Given the description of an element on the screen output the (x, y) to click on. 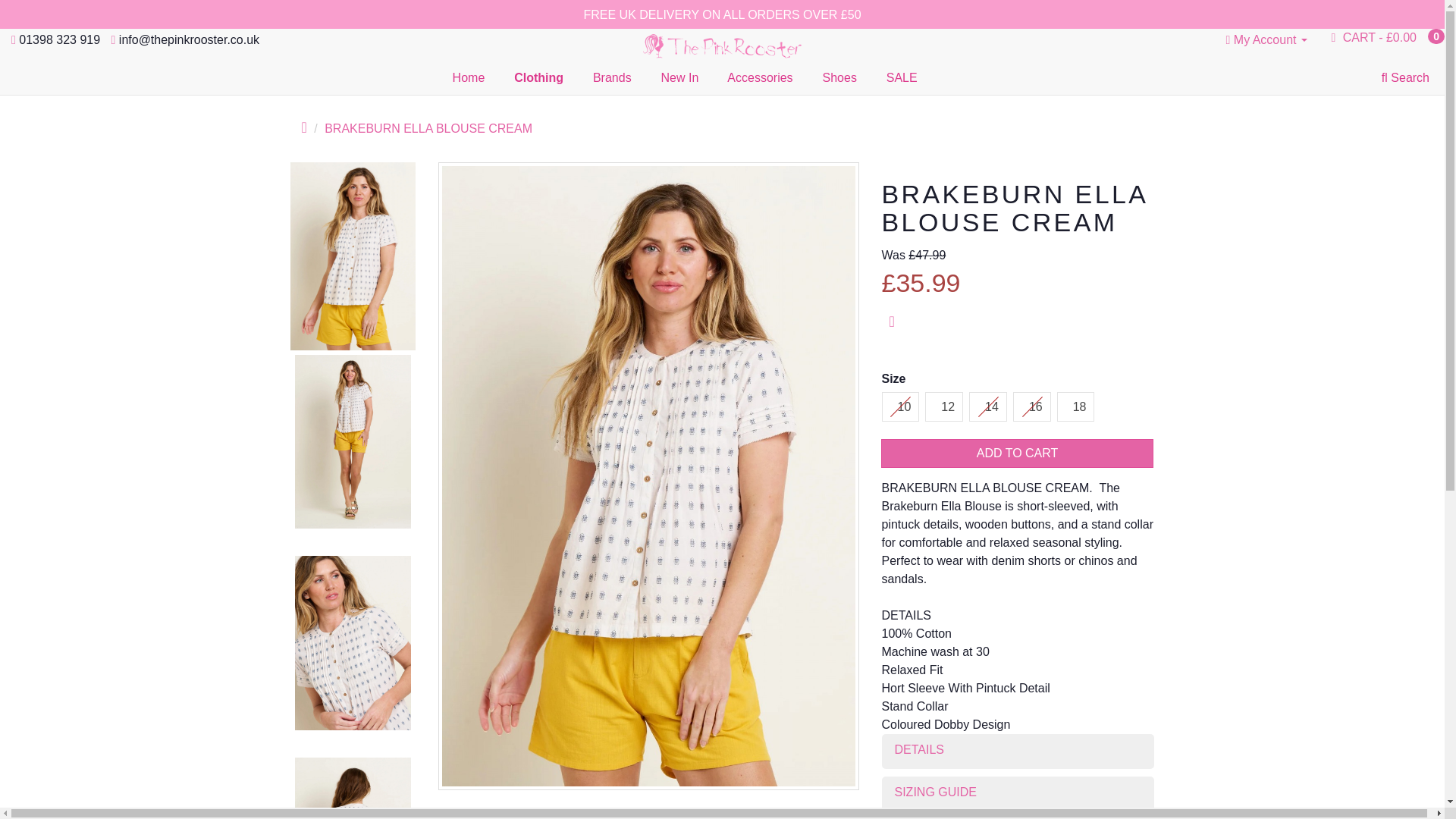
Home (466, 77)
My Account (1265, 39)
BRAKEBURN ELLA BLOUSE CREAM (352, 787)
The Pink Rooster (722, 44)
BRAKEBURN ELLA BLOUSE CREAM (351, 785)
My Account (1265, 39)
Clothing (536, 77)
Brands (609, 77)
